Given the description of an element on the screen output the (x, y) to click on. 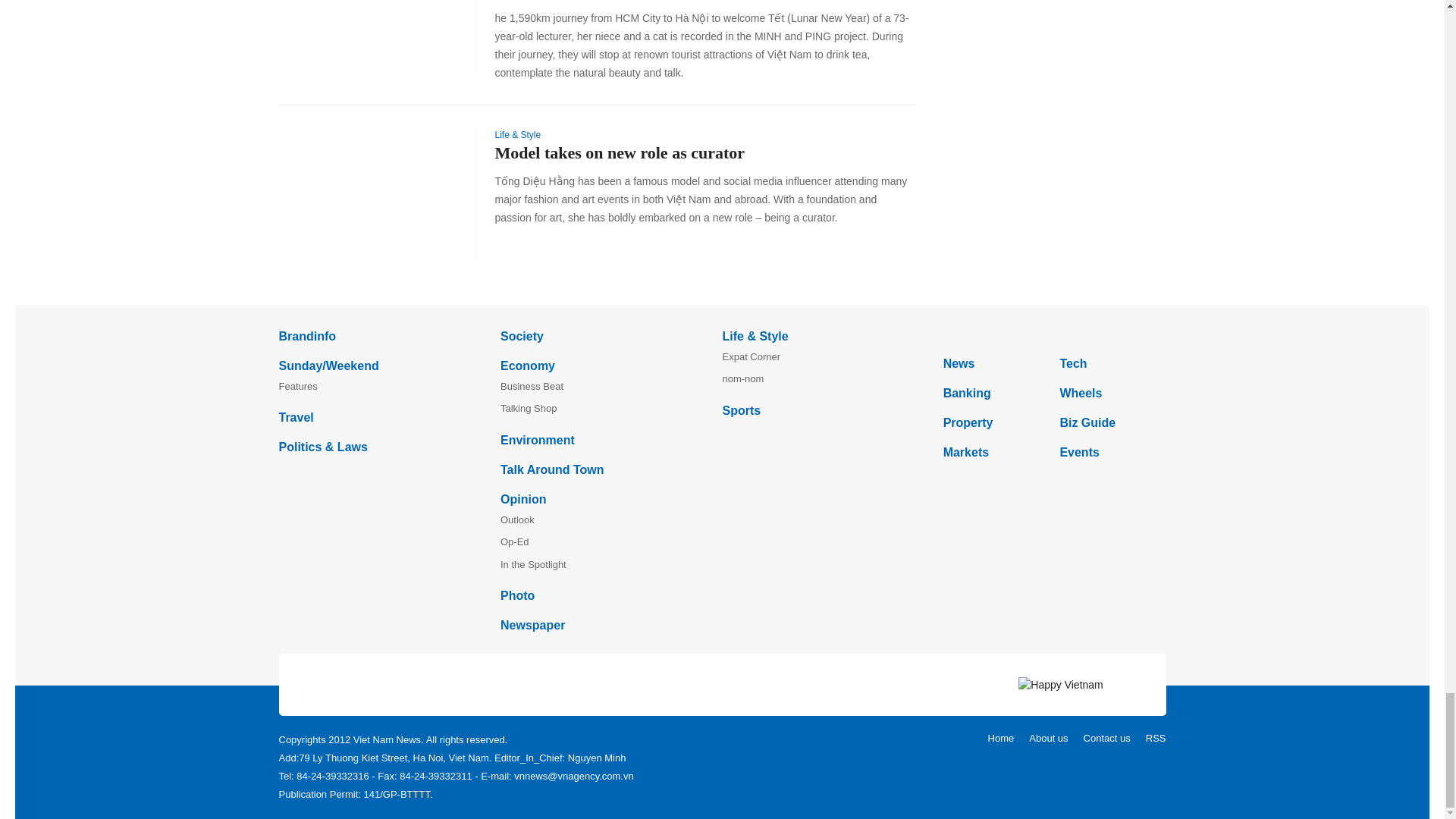
bizhub (1054, 335)
